Given the description of an element on the screen output the (x, y) to click on. 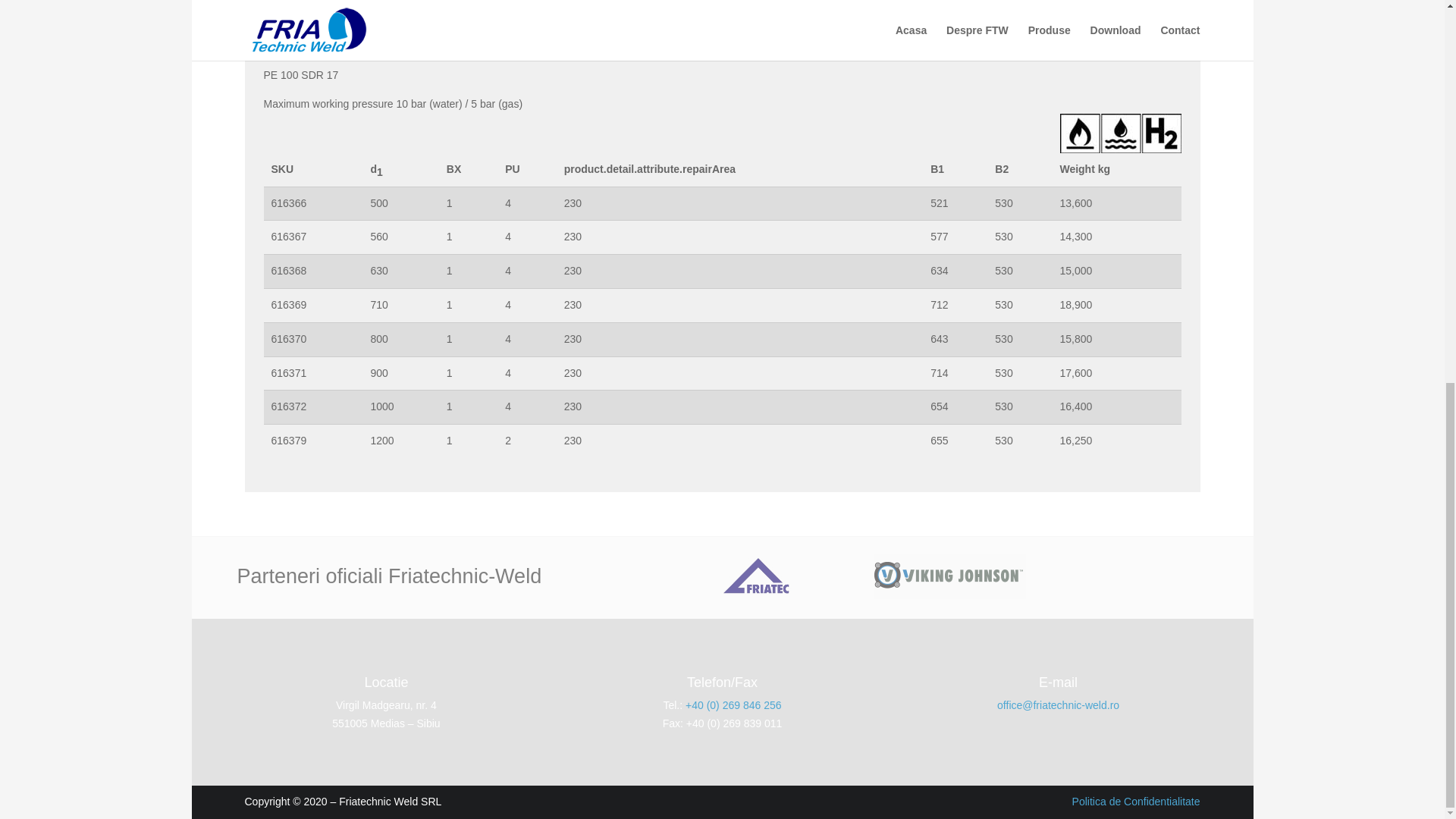
Date tehnice (290, 30)
Politica de Confidentialitate (1135, 801)
Downloads (378, 30)
